Given the description of an element on the screen output the (x, y) to click on. 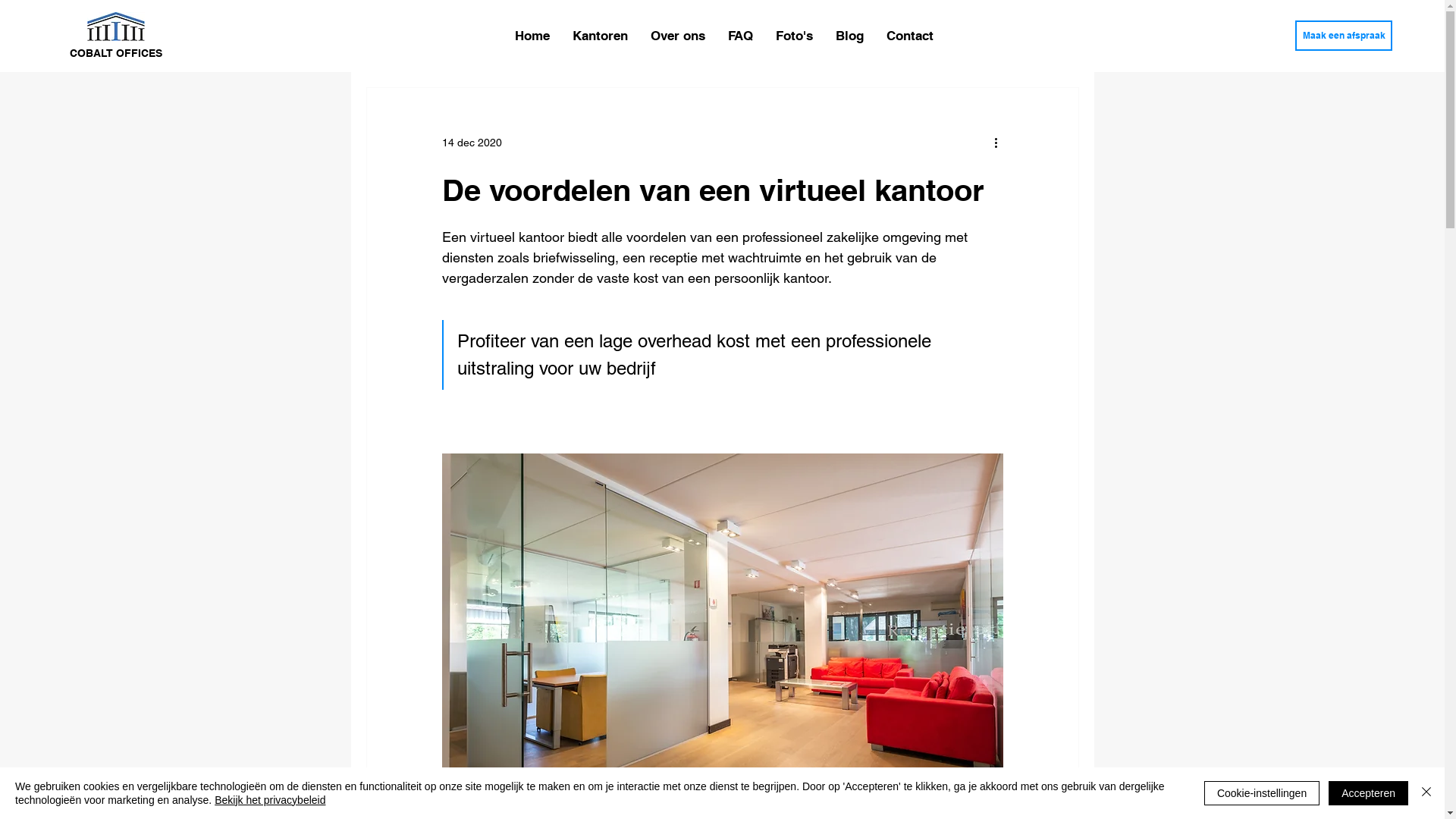
Bekijk het privacybeleid Element type: text (269, 799)
Cookie-instellingen Element type: text (1261, 793)
Accepteren Element type: text (1368, 793)
Maak een afspraak Element type: text (1343, 35)
Kantoren Element type: text (600, 35)
Blog Element type: text (849, 35)
COBALT OFFICES Element type: text (115, 53)
FAQ Element type: text (740, 35)
Contact Element type: text (909, 35)
Foto's Element type: text (794, 35)
Home Element type: text (532, 35)
Over ons Element type: text (677, 35)
